Given the description of an element on the screen output the (x, y) to click on. 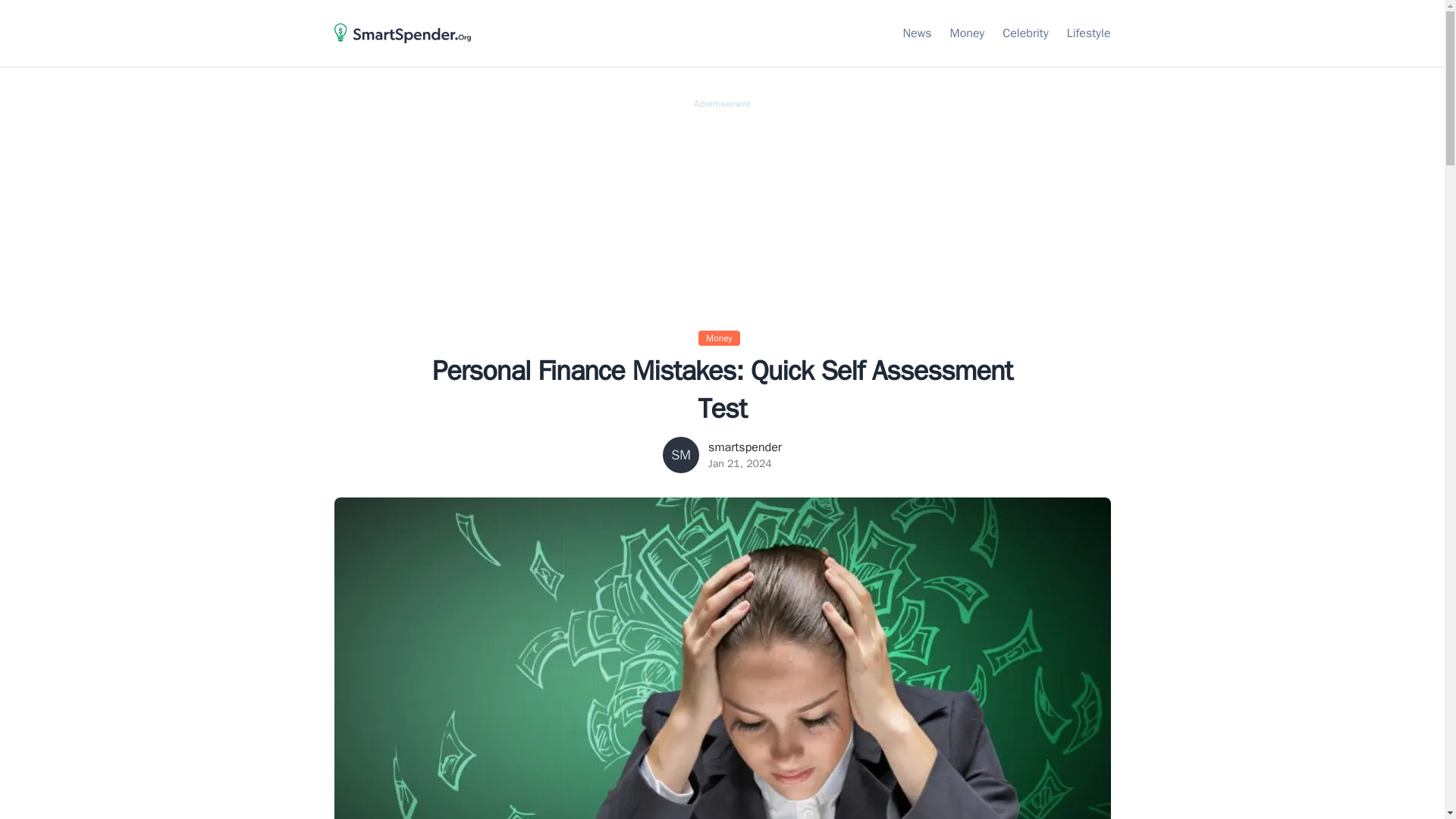
News (916, 33)
Money (967, 33)
Advertisement (721, 215)
Celebrity (1025, 33)
Money (721, 337)
Link (967, 33)
Link (1088, 33)
HomePage (401, 50)
Lifestyle (1088, 33)
Link (916, 33)
